Given the description of an element on the screen output the (x, y) to click on. 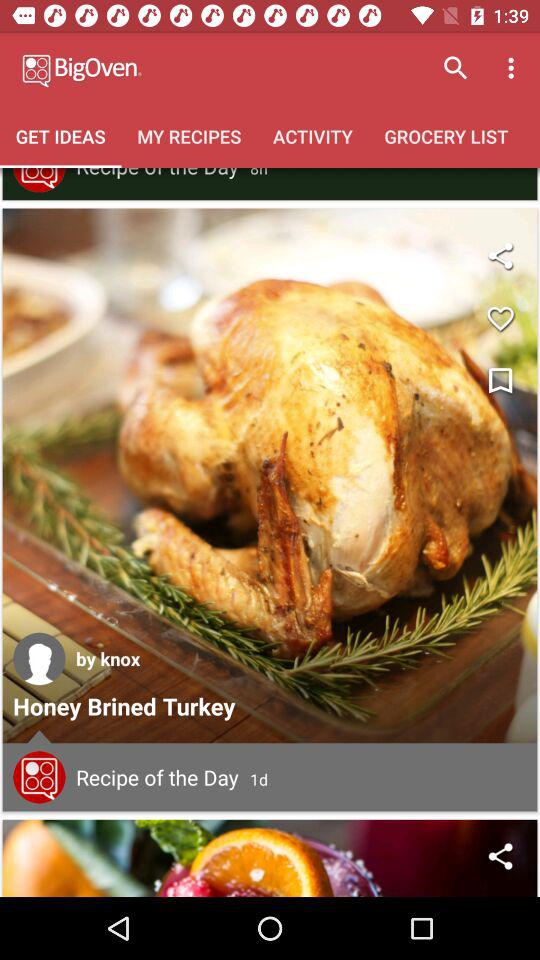
save the article (500, 381)
